Given the description of an element on the screen output the (x, y) to click on. 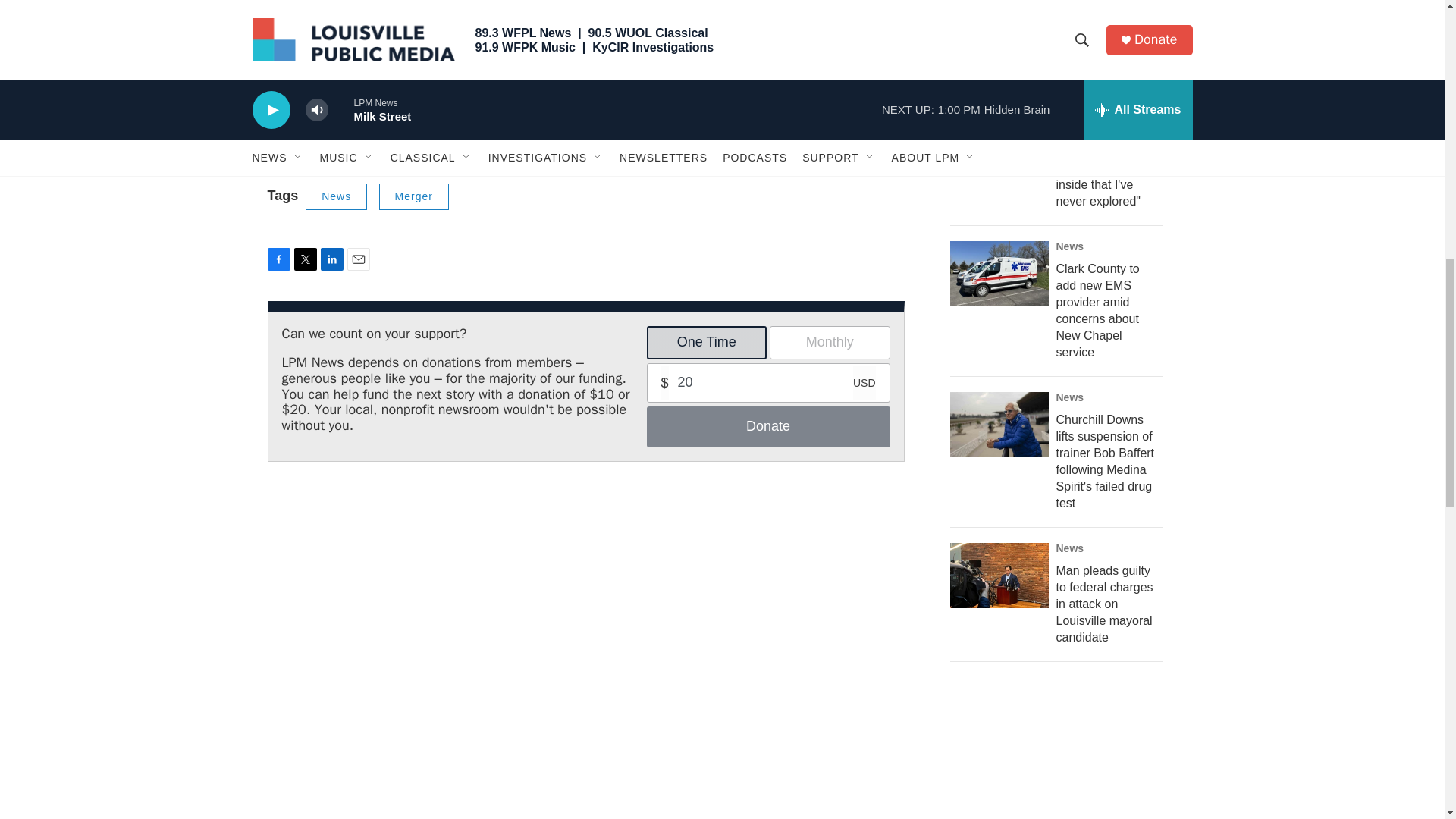
20 (768, 382)
3rd party ad content (1062, 755)
3rd party ad content (1062, 2)
